Given the description of an element on the screen output the (x, y) to click on. 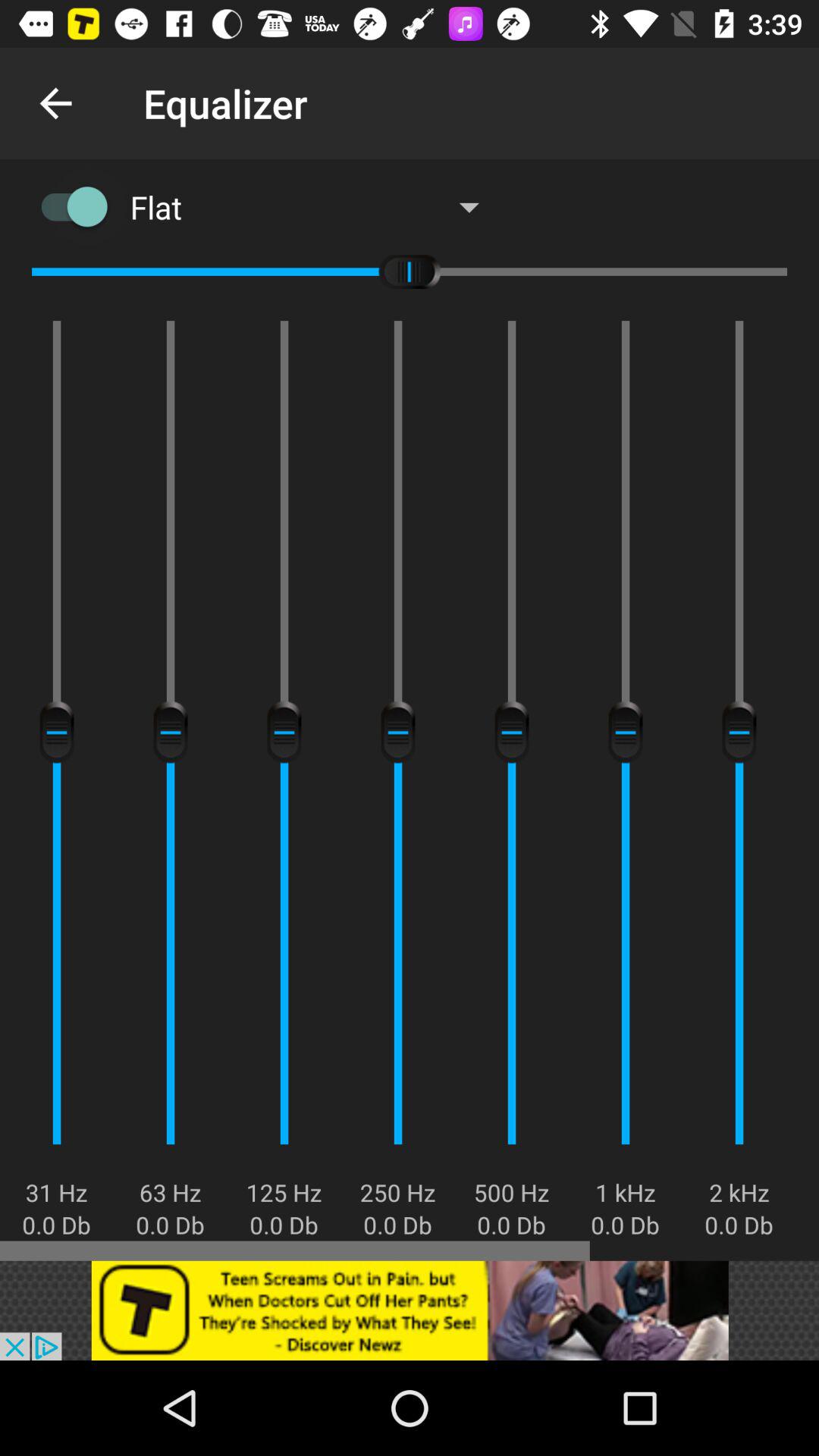
advertisement in the bottom (409, 1310)
